Given the description of an element on the screen output the (x, y) to click on. 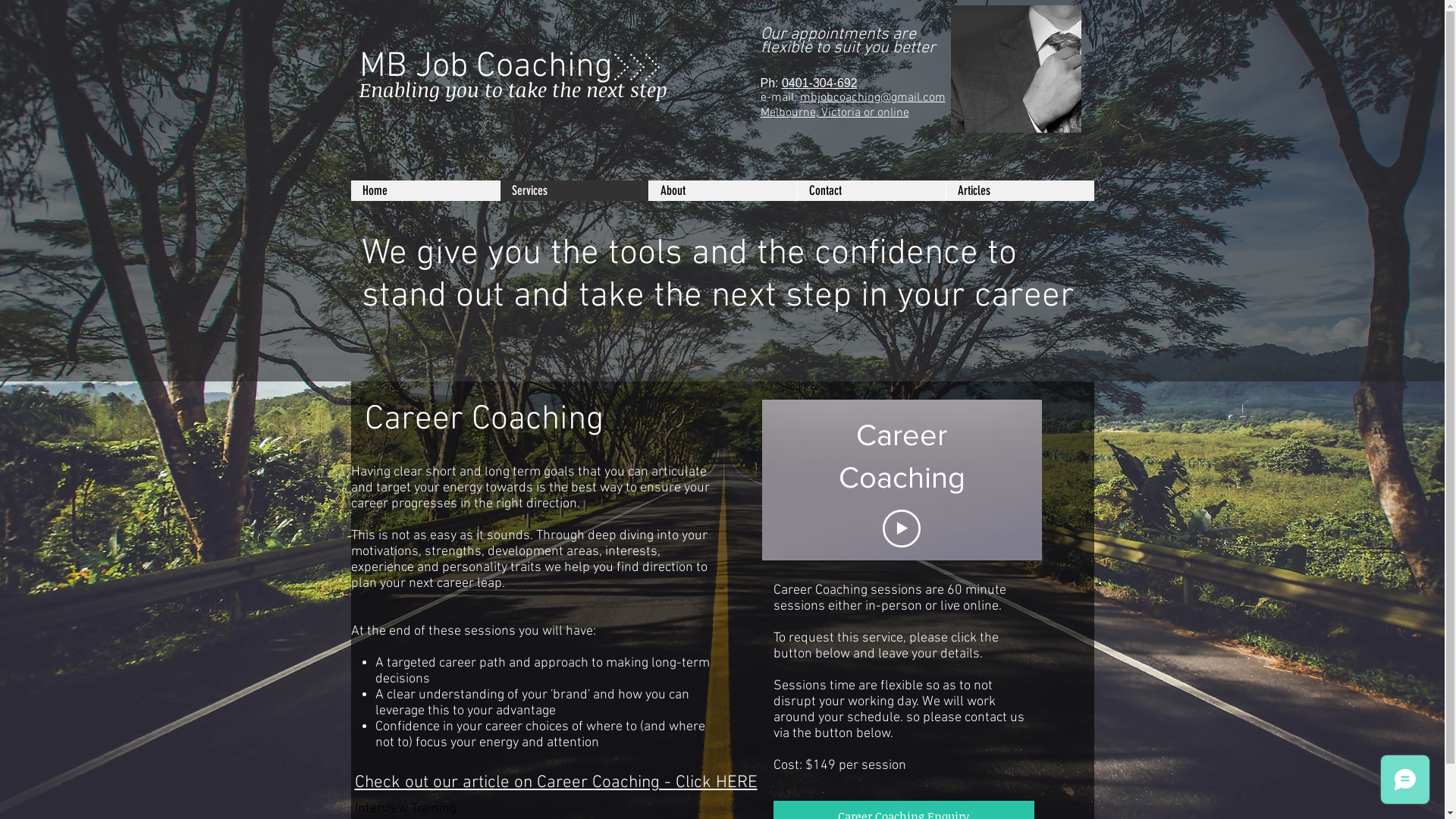
Check out our article on Career Coaching - Click HERE Element type: text (555, 782)
Enabling you to take the next step Element type: text (513, 91)
Articles Element type: text (1018, 190)
mbjobcoaching@gmail.com Element type: text (871, 97)
0401-304-692 Element type: text (819, 82)
About Element type: text (721, 190)
Home Element type: text (424, 190)
Melbourne, Victoria or online Element type: text (833, 112)
Contact Element type: text (870, 190)
Services Element type: text (572, 190)
